Given the description of an element on the screen output the (x, y) to click on. 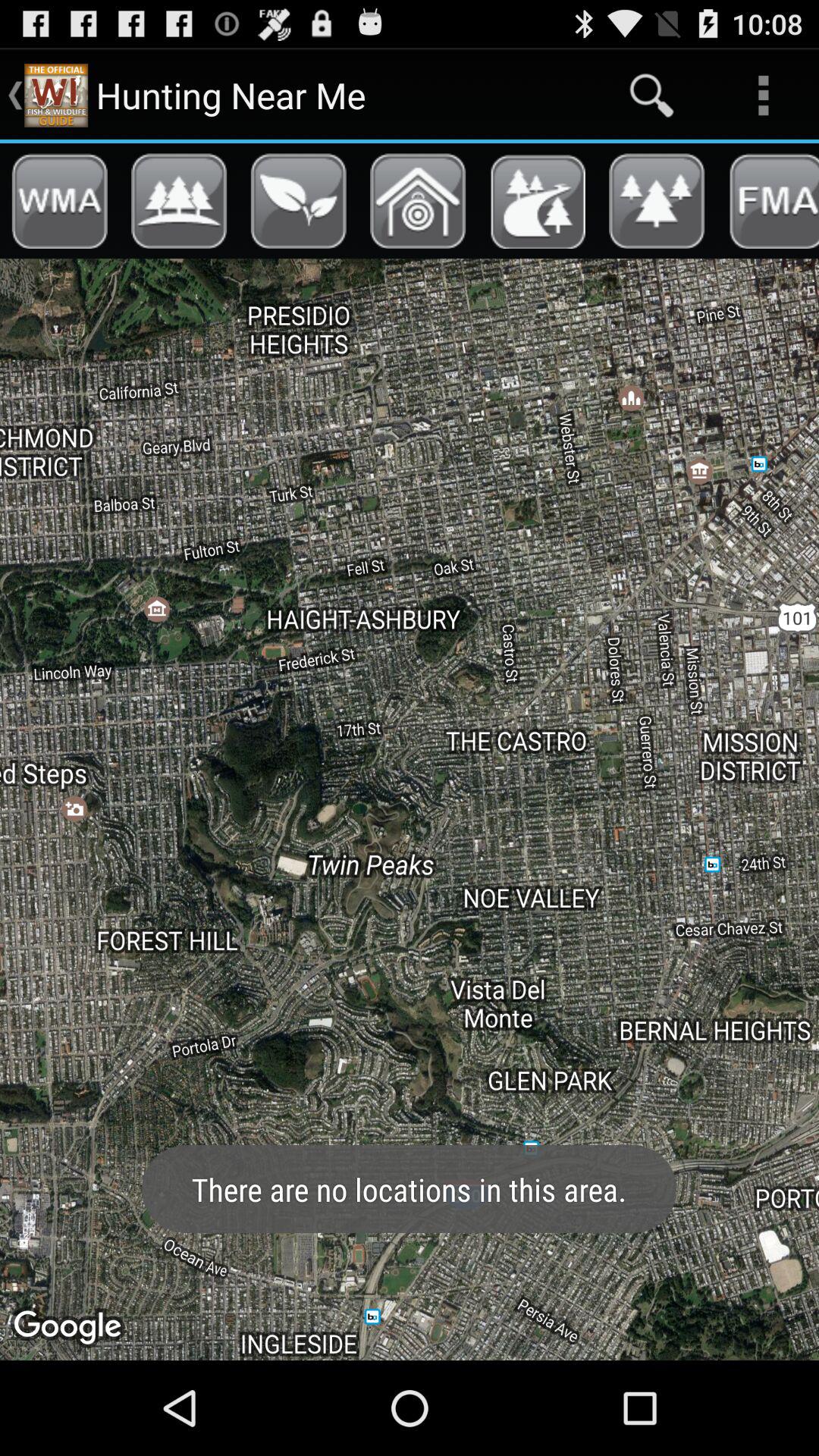
show nearby archery ranges on the map (417, 201)
